Given the description of an element on the screen output the (x, y) to click on. 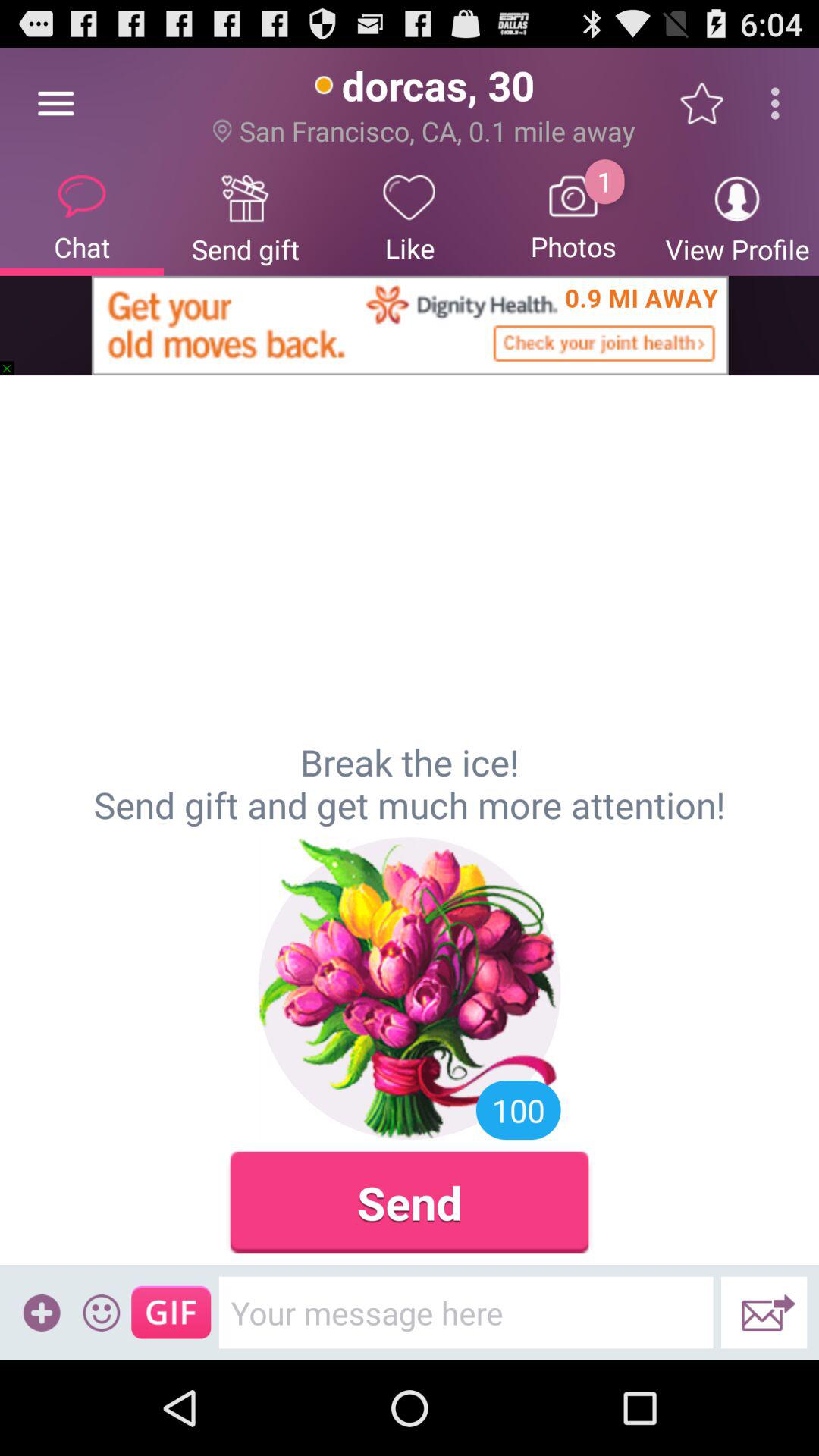
choose icon next to the like item (573, 217)
